Given the description of an element on the screen output the (x, y) to click on. 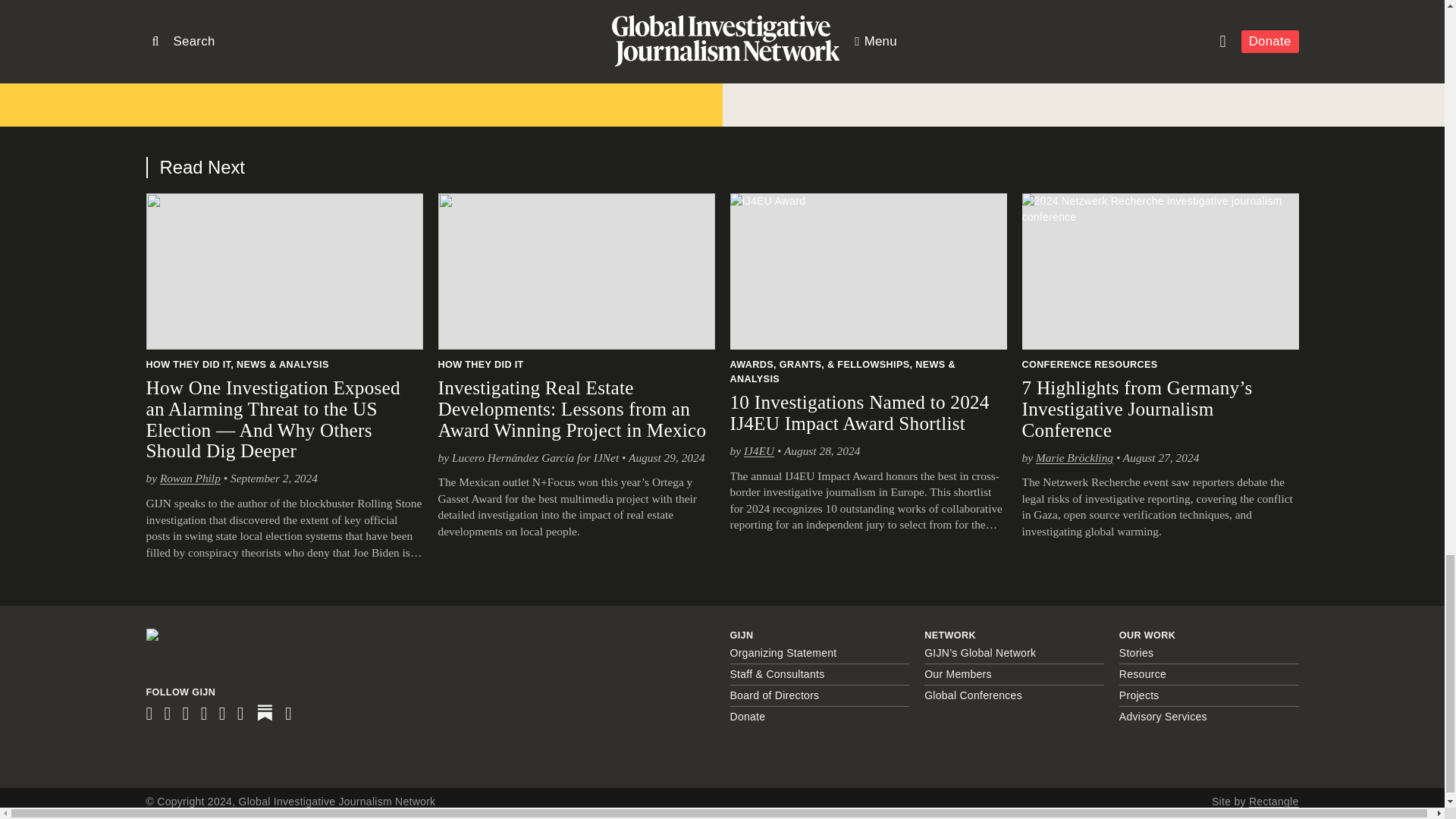
Read other stories tagged with gijn (852, 54)
Read other stories tagged with IRRP (1023, 54)
Read other stories tagged with ARIJ (816, 54)
Read other stories tagged with Arabic (773, 54)
Read other stories tagged with investigative Journalism (935, 54)
Read other stories tagged with RPDI (1064, 54)
Read other stories tagged with Russian (1113, 54)
